Given the description of an element on the screen output the (x, y) to click on. 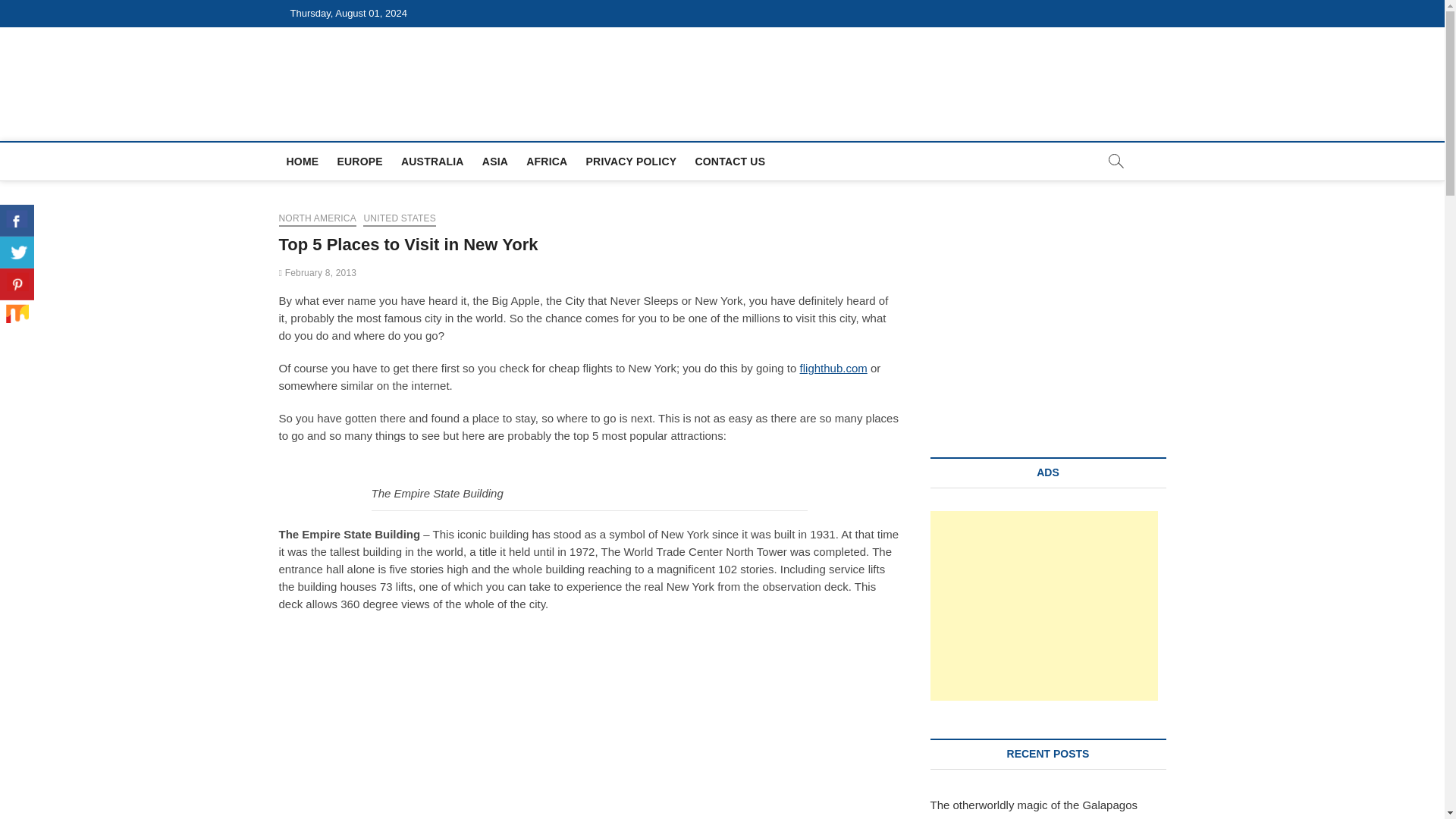
PRIVACY POLICY (631, 161)
NORTH AMERICA (317, 219)
Advertisement (1043, 606)
February 8, 2013 (317, 272)
AUSTRALIA (432, 161)
The otherworldly magic of the Galapagos (1033, 804)
UNITED STATES (398, 219)
flighthub.com (833, 367)
ASIA (494, 161)
